Given the description of an element on the screen output the (x, y) to click on. 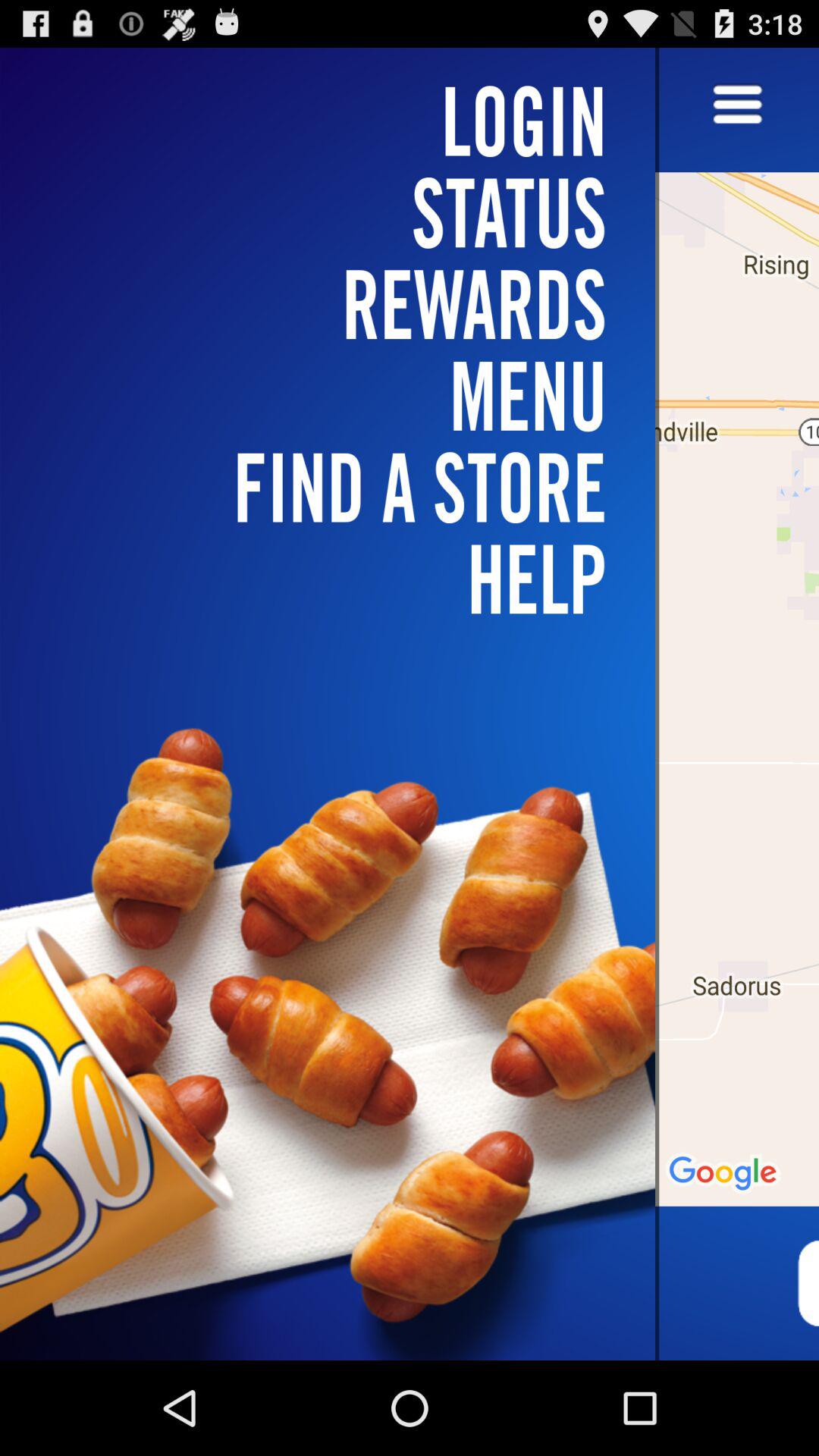
jump to the find a store icon (336, 486)
